Given the description of an element on the screen output the (x, y) to click on. 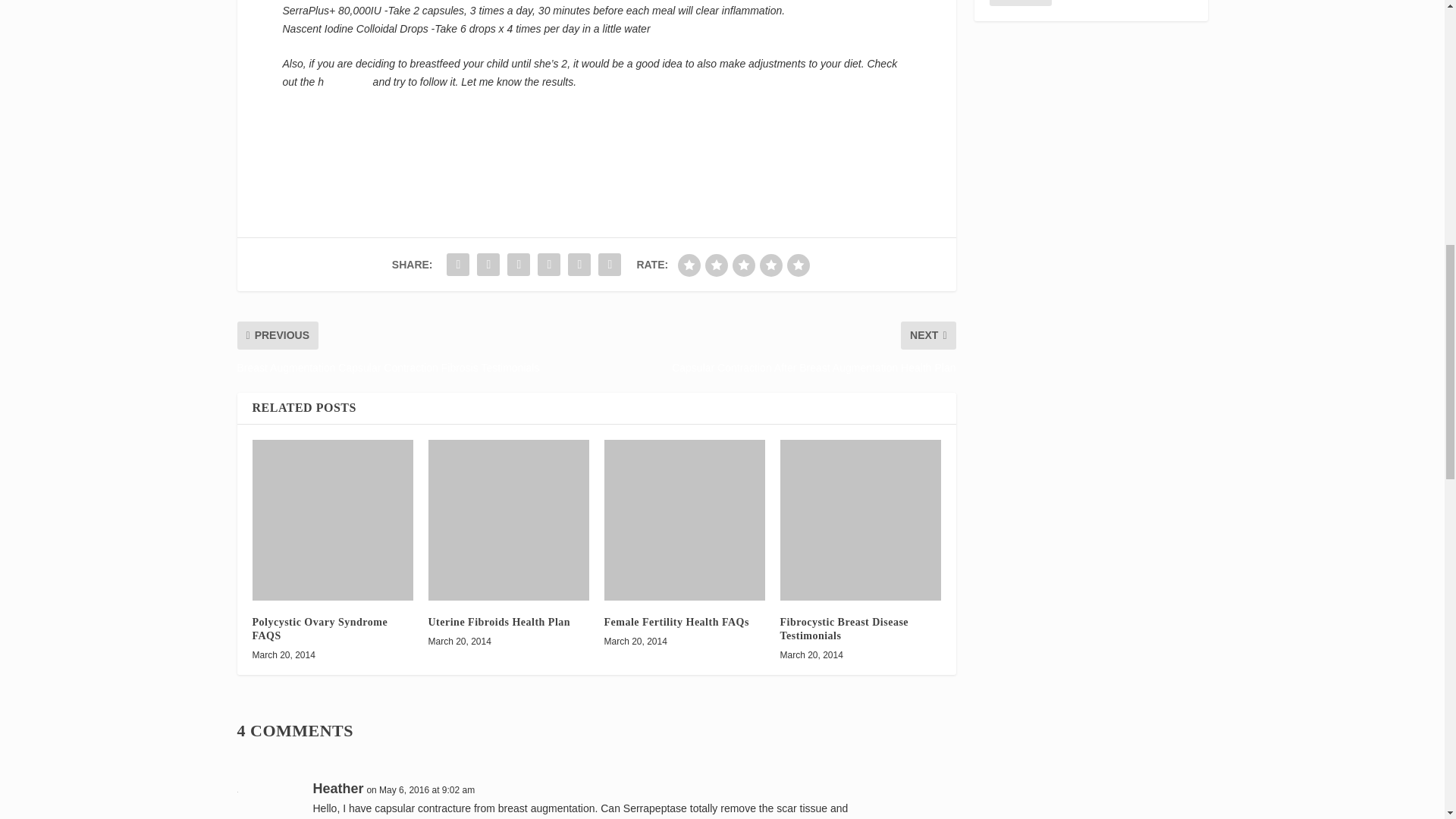
ealth plan (346, 81)
